Given the description of an element on the screen output the (x, y) to click on. 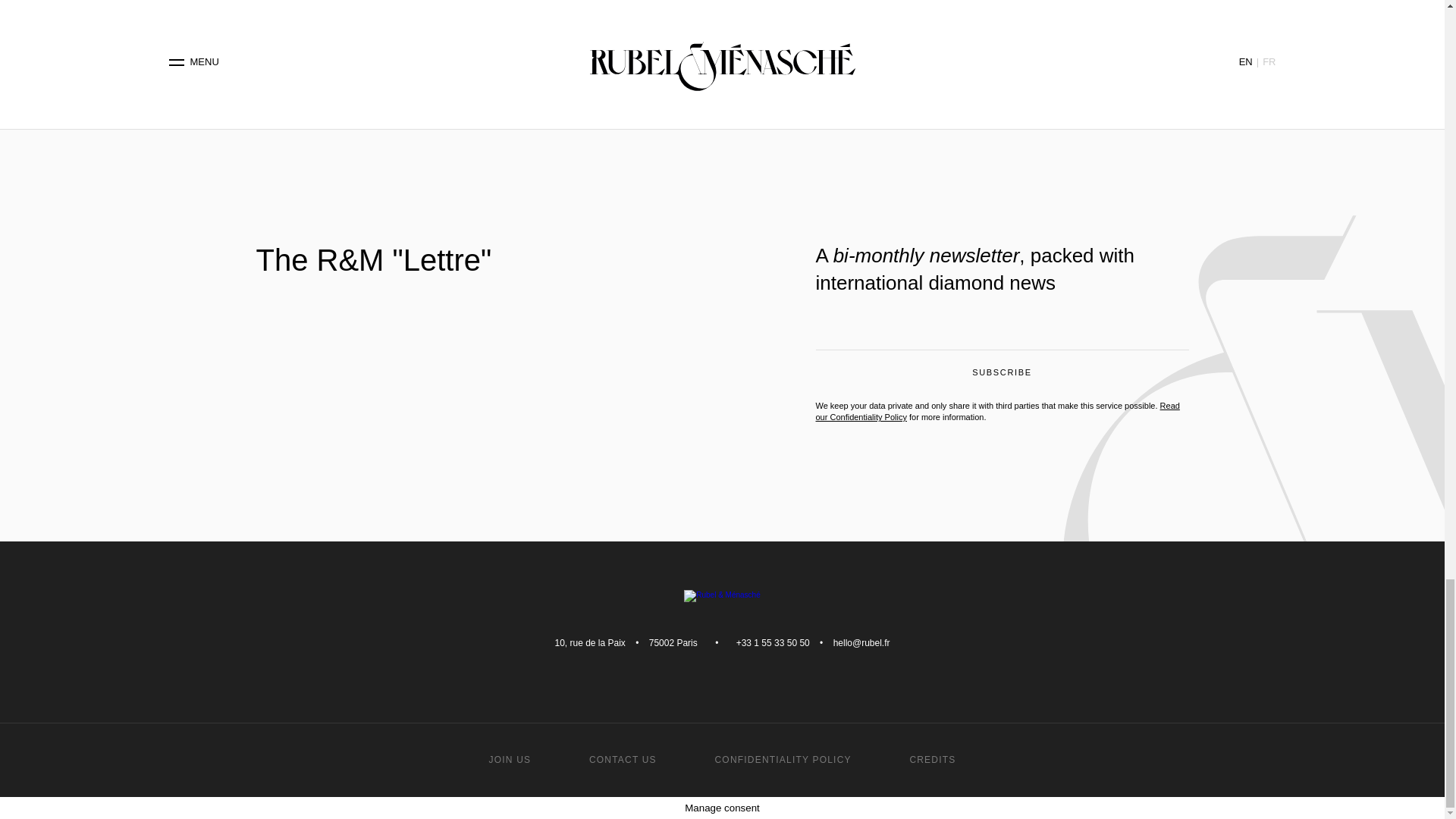
Subscribe (1002, 375)
Subscribe (1002, 375)
CREDITS (931, 759)
CONFIDENTIALITY POLICY (782, 759)
Read our Confidentiality Policy (997, 411)
JOIN US (509, 759)
CONTACT US (622, 759)
E-mail (1002, 337)
